Given the description of an element on the screen output the (x, y) to click on. 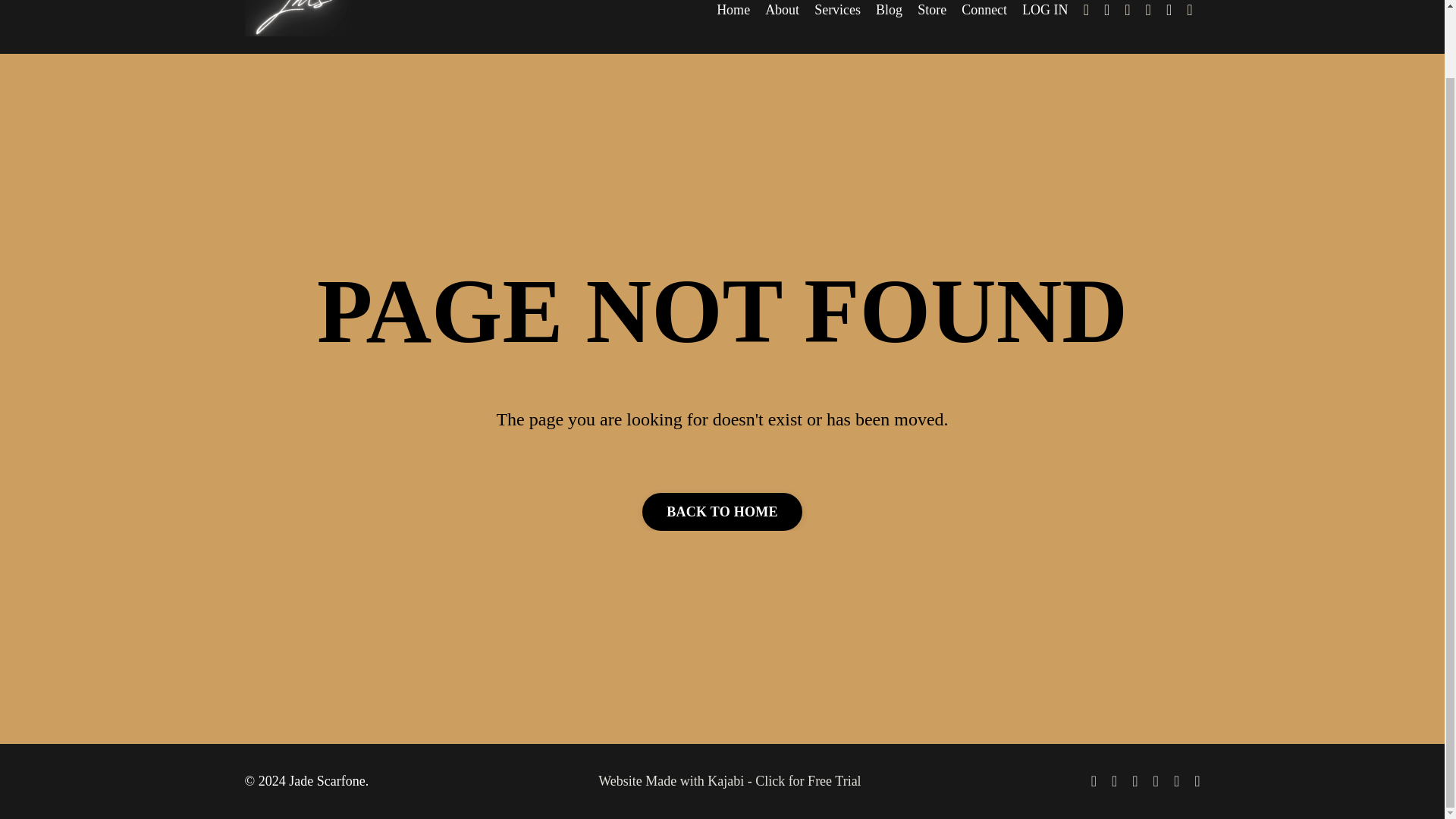
LOG IN (1045, 9)
Store (931, 10)
Connect (983, 10)
Home (732, 10)
BACK TO HOME (722, 511)
Website Made with Kajabi - Click for Free Trial (729, 780)
Blog (889, 10)
Services (836, 10)
About (782, 10)
